Given the description of an element on the screen output the (x, y) to click on. 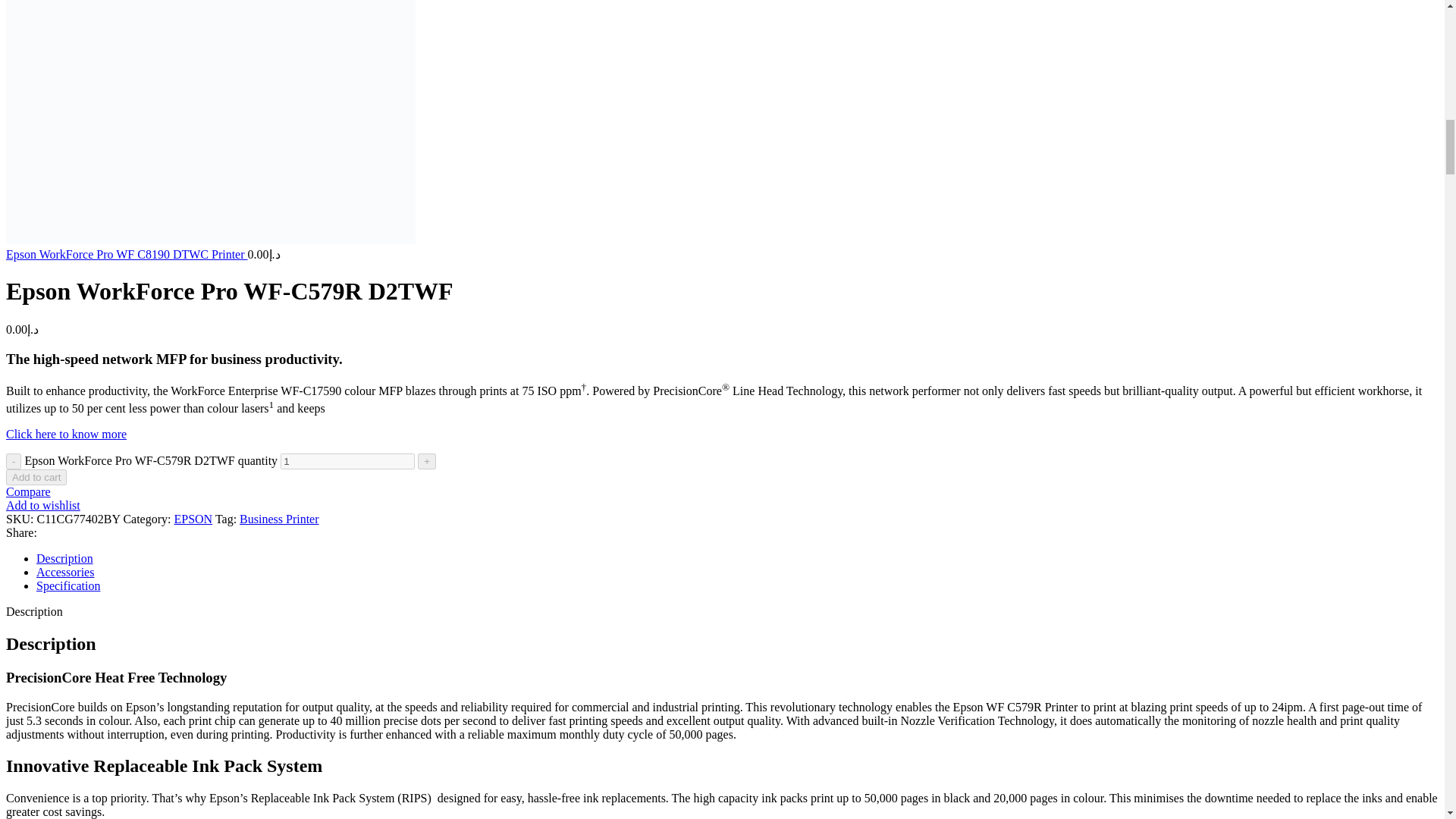
1 (347, 461)
Qty (347, 461)
- (13, 461)
